Given the description of an element on the screen output the (x, y) to click on. 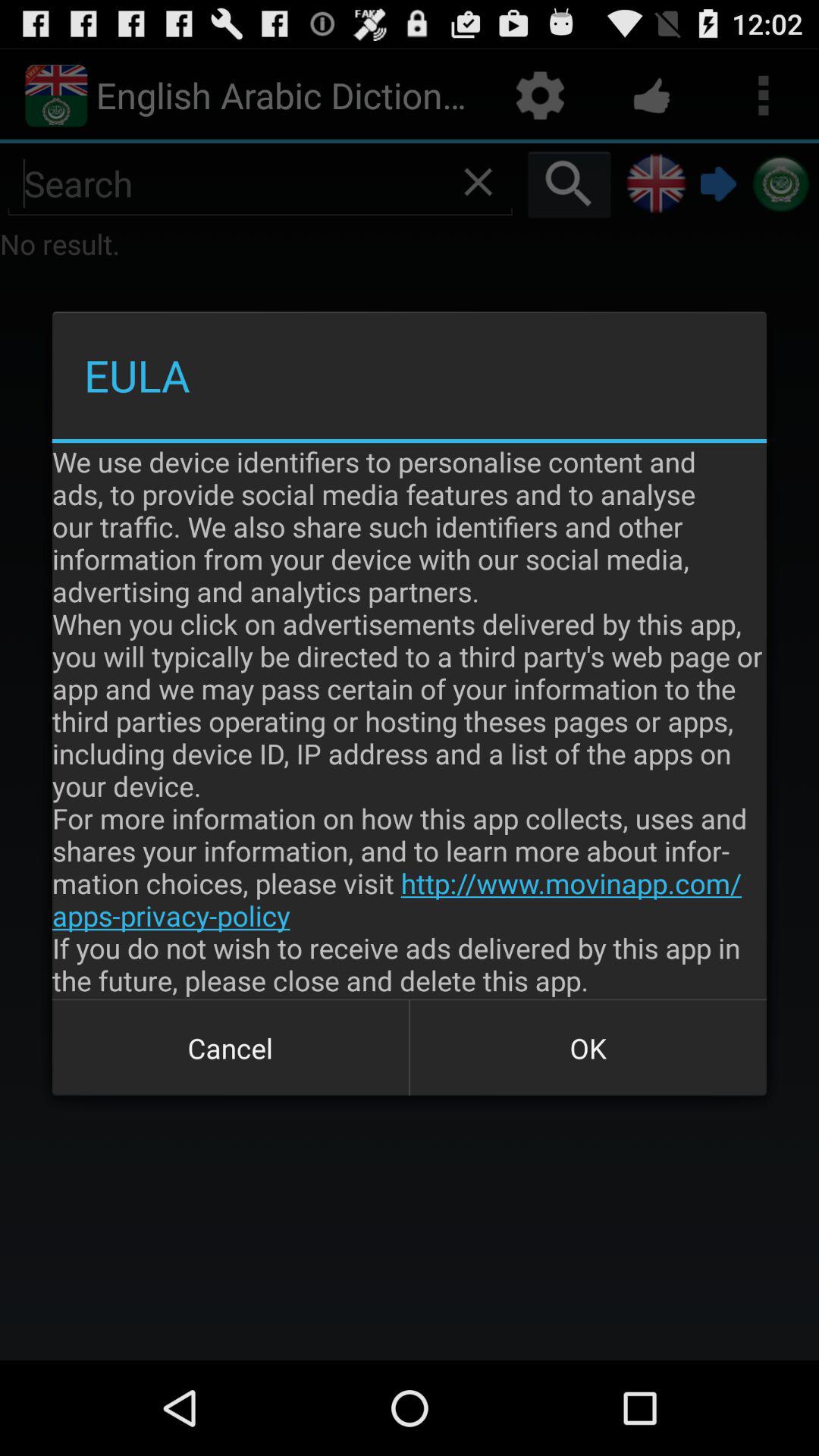
click button next to the cancel button (588, 1047)
